Given the description of an element on the screen output the (x, y) to click on. 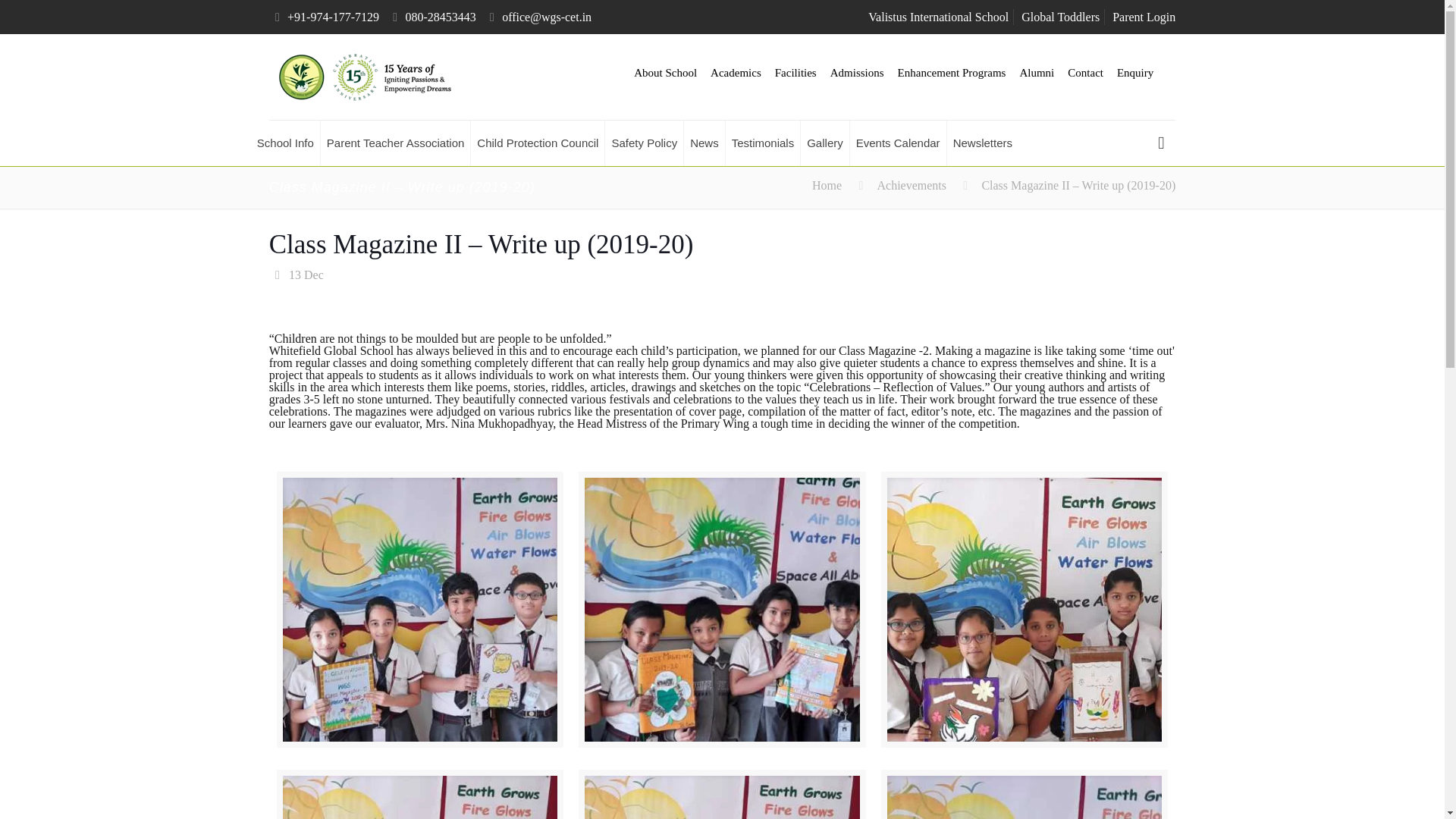
Events Calendar (898, 143)
Child Protection Council (537, 143)
News (704, 143)
Parent Login (1143, 16)
Safety Policy (644, 143)
Valistus International School (938, 16)
WGS (363, 76)
Newsletters (982, 143)
Gallery (825, 143)
Parent Teacher Association (395, 143)
Testimonials (763, 143)
School Info (285, 143)
080-28453443 (440, 16)
Global Toddlers (1060, 16)
